Given the description of an element on the screen output the (x, y) to click on. 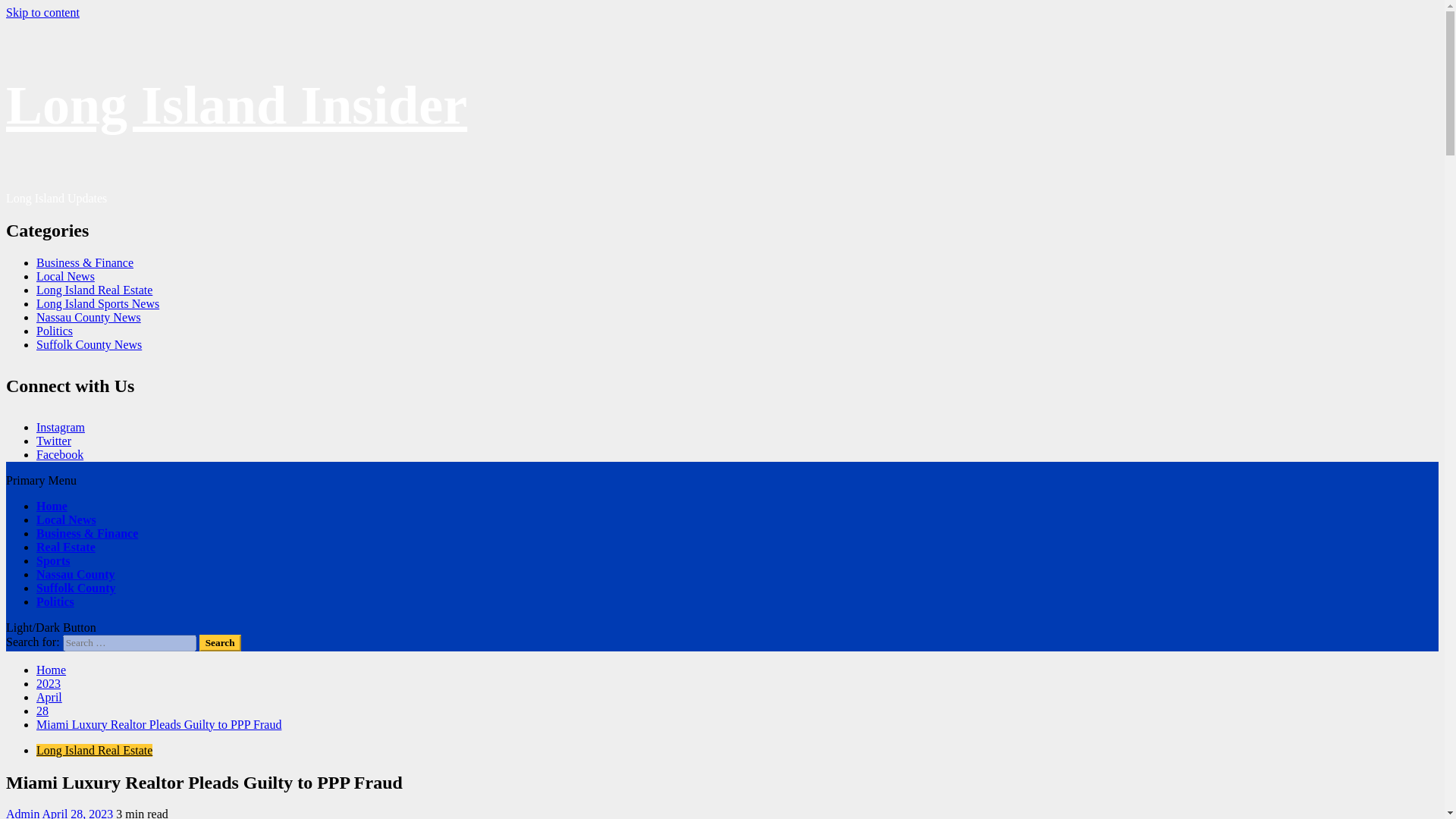
Search (220, 642)
Twitter (53, 440)
Politics (54, 330)
Admin (23, 813)
Local News (65, 276)
Suffolk County (75, 587)
Long Island Real Estate (94, 289)
Nassau County (75, 574)
Sports (52, 560)
Search (220, 642)
April (49, 697)
Search (220, 642)
Real Estate (66, 546)
Nassau County News (88, 317)
Home (50, 669)
